Given the description of an element on the screen output the (x, y) to click on. 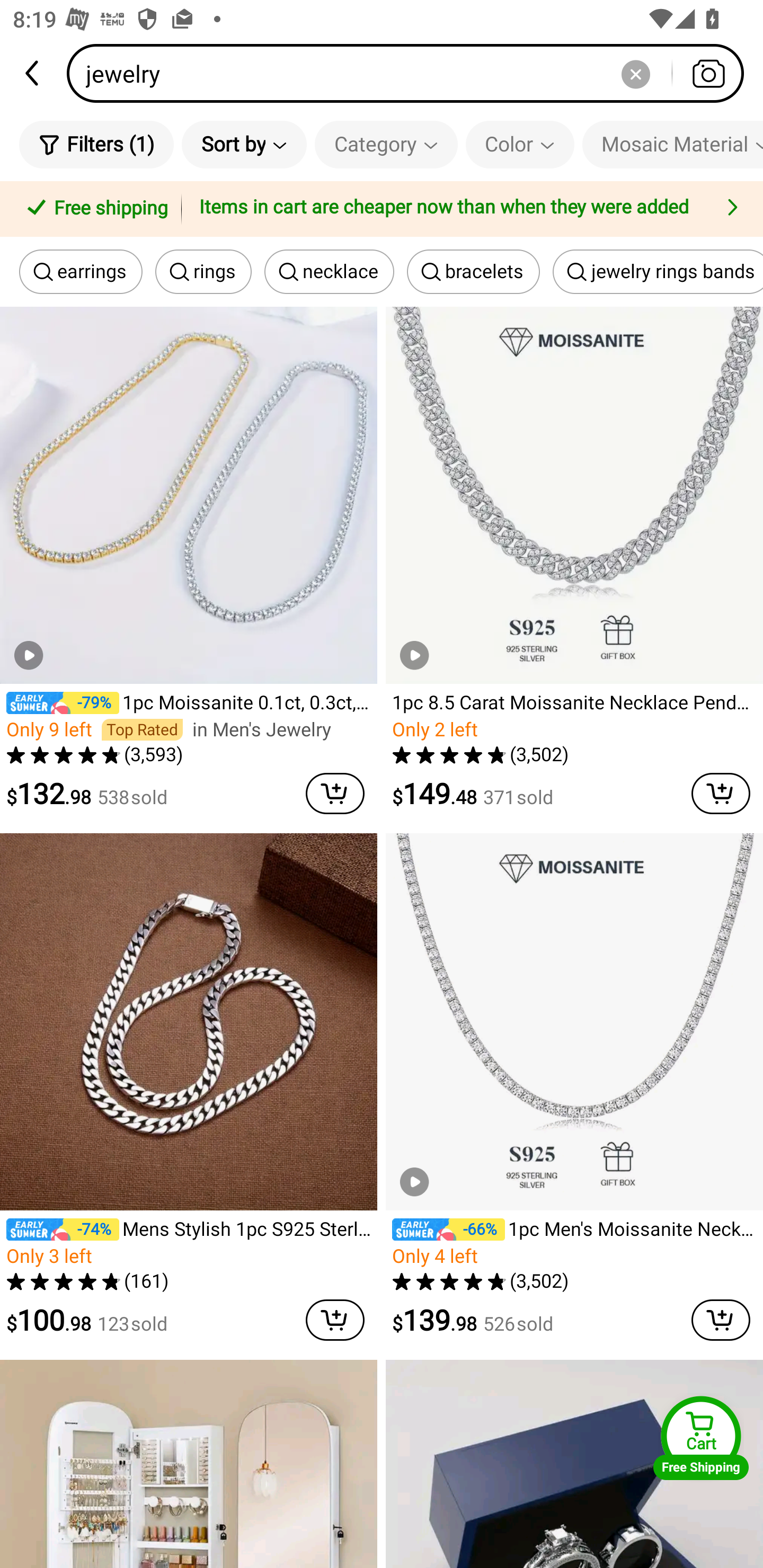
back (33, 72)
jewelry (411, 73)
Delete search history (635, 73)
Search by photo (708, 73)
Filters (1) (96, 143)
Sort by (243, 143)
Category (385, 143)
Color (519, 143)
Mosaic Material (672, 143)
 Free shipping (93, 208)
earrings (80, 271)
rings (202, 271)
necklace (329, 271)
bracelets (473, 271)
jewelry rings bands (657, 271)
